Given the description of an element on the screen output the (x, y) to click on. 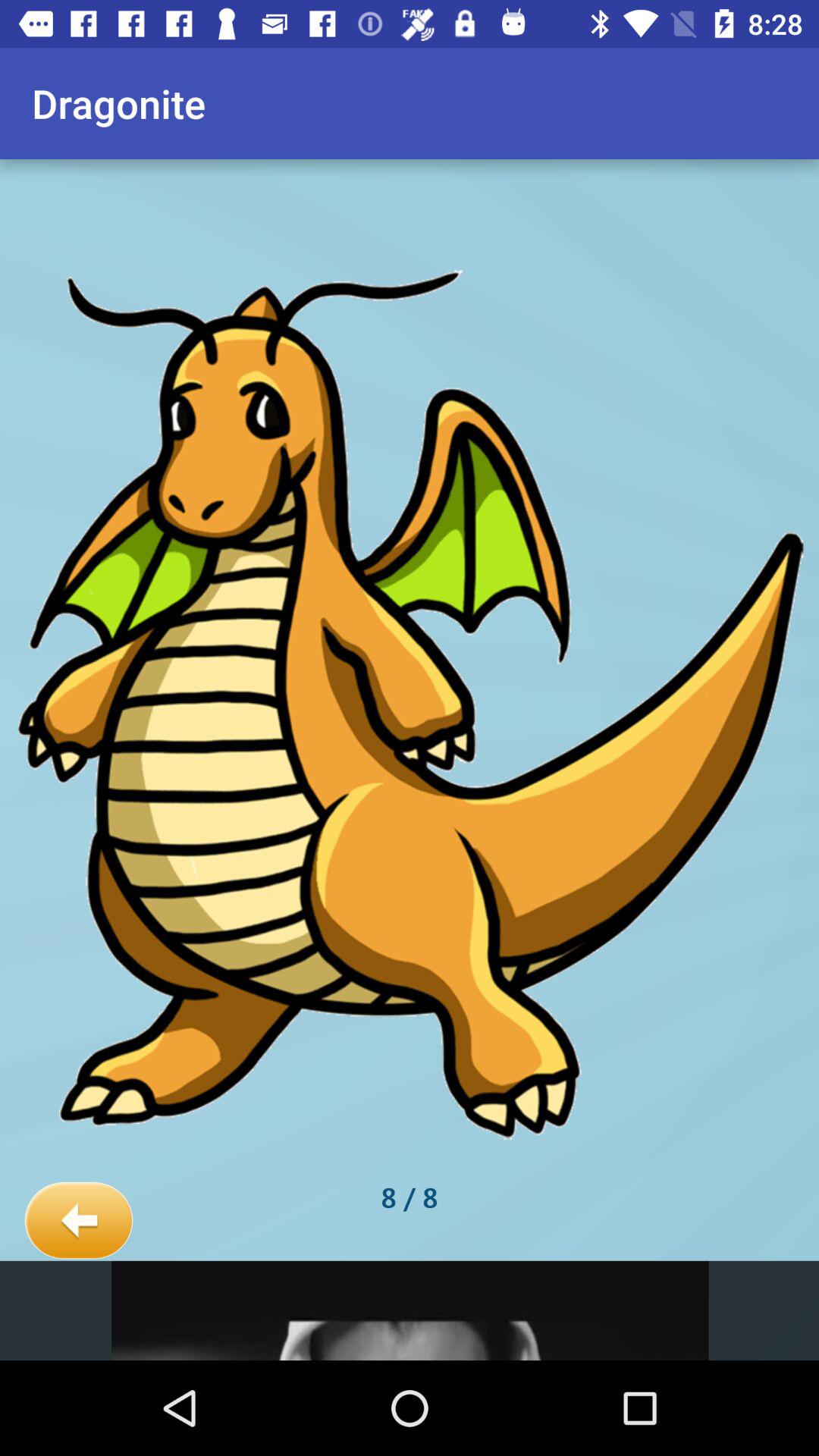
turn on the app below the dragonite item (78, 1220)
